Given the description of an element on the screen output the (x, y) to click on. 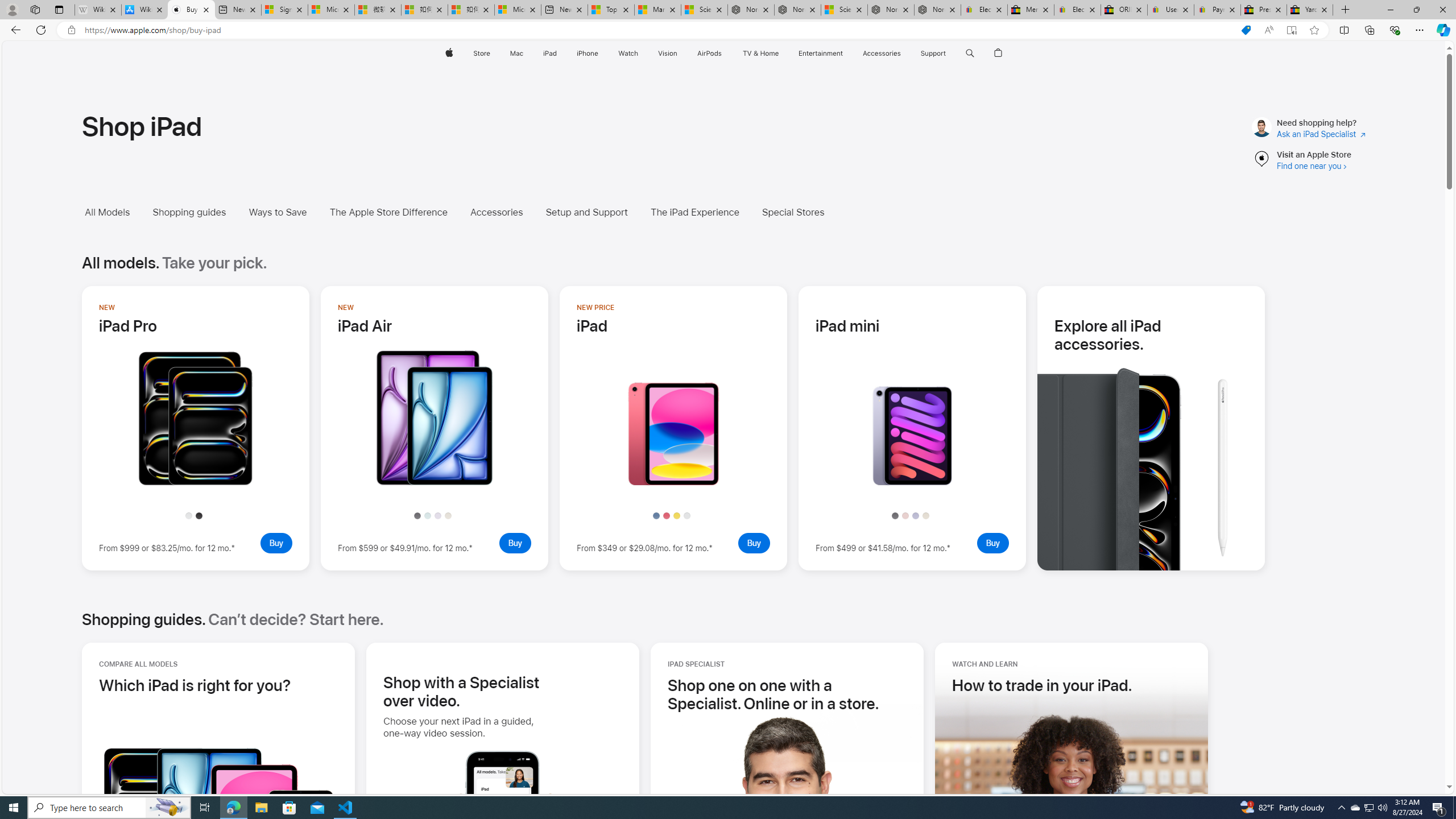
Setup and Support (595, 212)
TV and Home menu (780, 53)
Store menu (492, 53)
Support menu (948, 53)
Buy - iPad Air  (515, 543)
iPad menu (557, 53)
Shopping guides (197, 212)
Special Stores (792, 212)
Mac menu (524, 53)
Accessories menu (903, 53)
Vision menu (678, 53)
Take a closer look - iPad Pro  (195, 482)
